Given the description of an element on the screen output the (x, y) to click on. 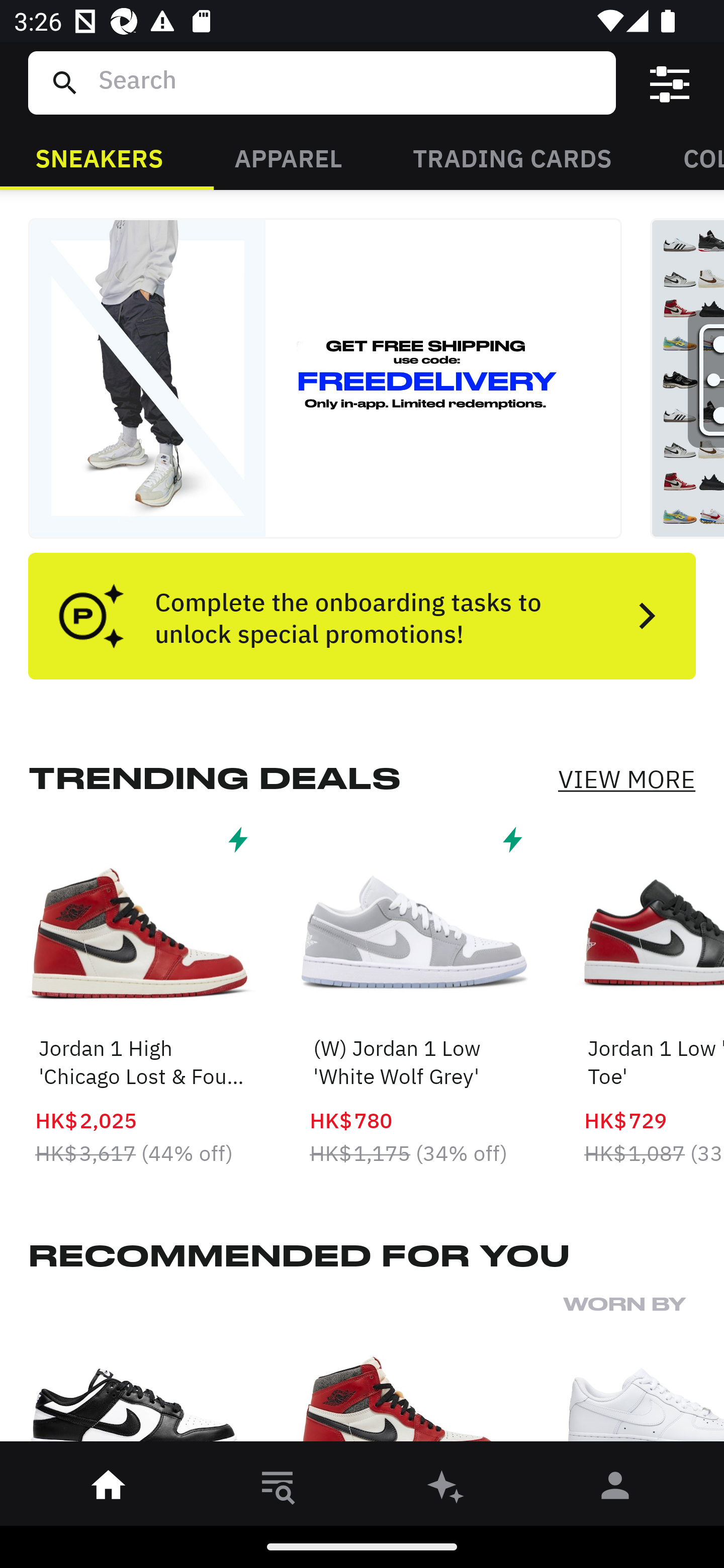
Search (349, 82)
 (669, 82)
SNEAKERS (99, 156)
APPAREL (287, 156)
TRADING CARDS (512, 156)
VIEW MORE (626, 779)
WORN BY (643, 1373)
󰋜 (108, 1488)
󱎸 (277, 1488)
󰫢 (446, 1488)
󰀄 (615, 1488)
